Given the description of an element on the screen output the (x, y) to click on. 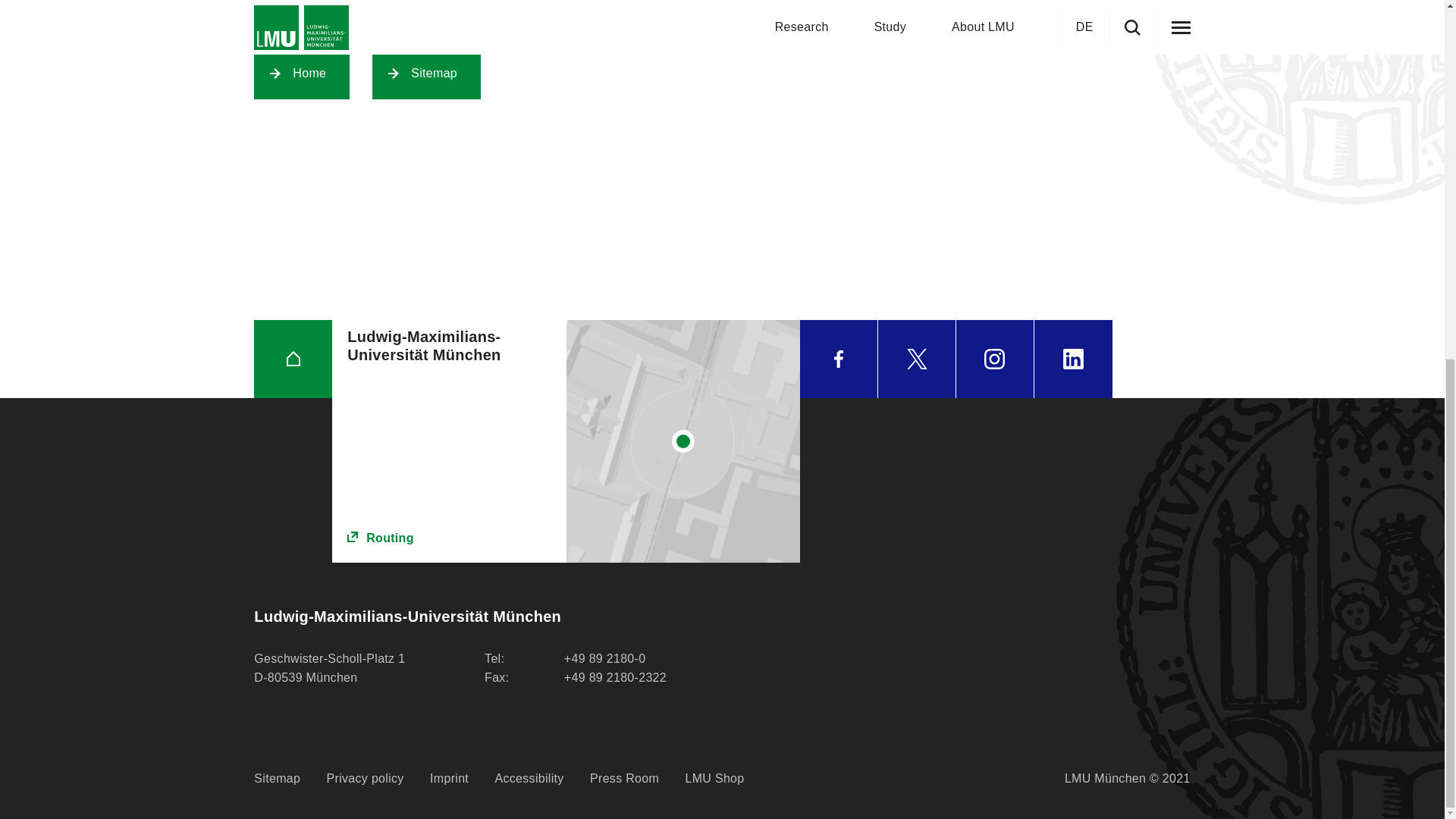
Accessibility (529, 778)
Routing (449, 538)
Privacy policy (365, 778)
Press Room (624, 778)
Sitemap (276, 778)
Sitemap (426, 73)
LinkedIn-Link opens in a new window (1072, 359)
Twitter-Link opens in a new window (916, 359)
Instagram (994, 359)
Home (301, 73)
Twitter (916, 359)
Plan section LMU main building (683, 441)
LMU Shop (714, 778)
Imprint (448, 778)
Facebook (838, 359)
